Given the description of an element on the screen output the (x, y) to click on. 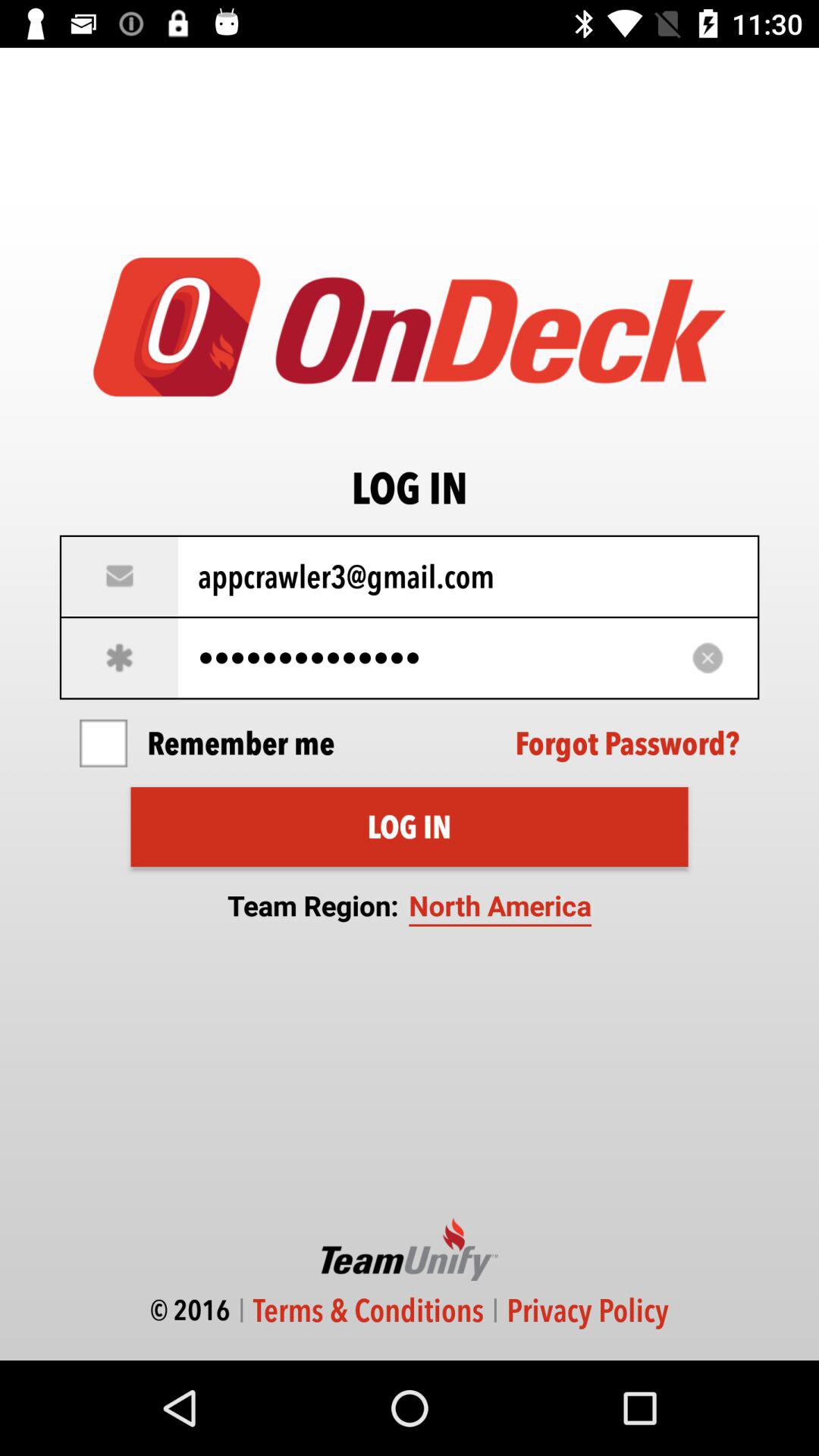
turn on terms & conditions (368, 1310)
